Given the description of an element on the screen output the (x, y) to click on. 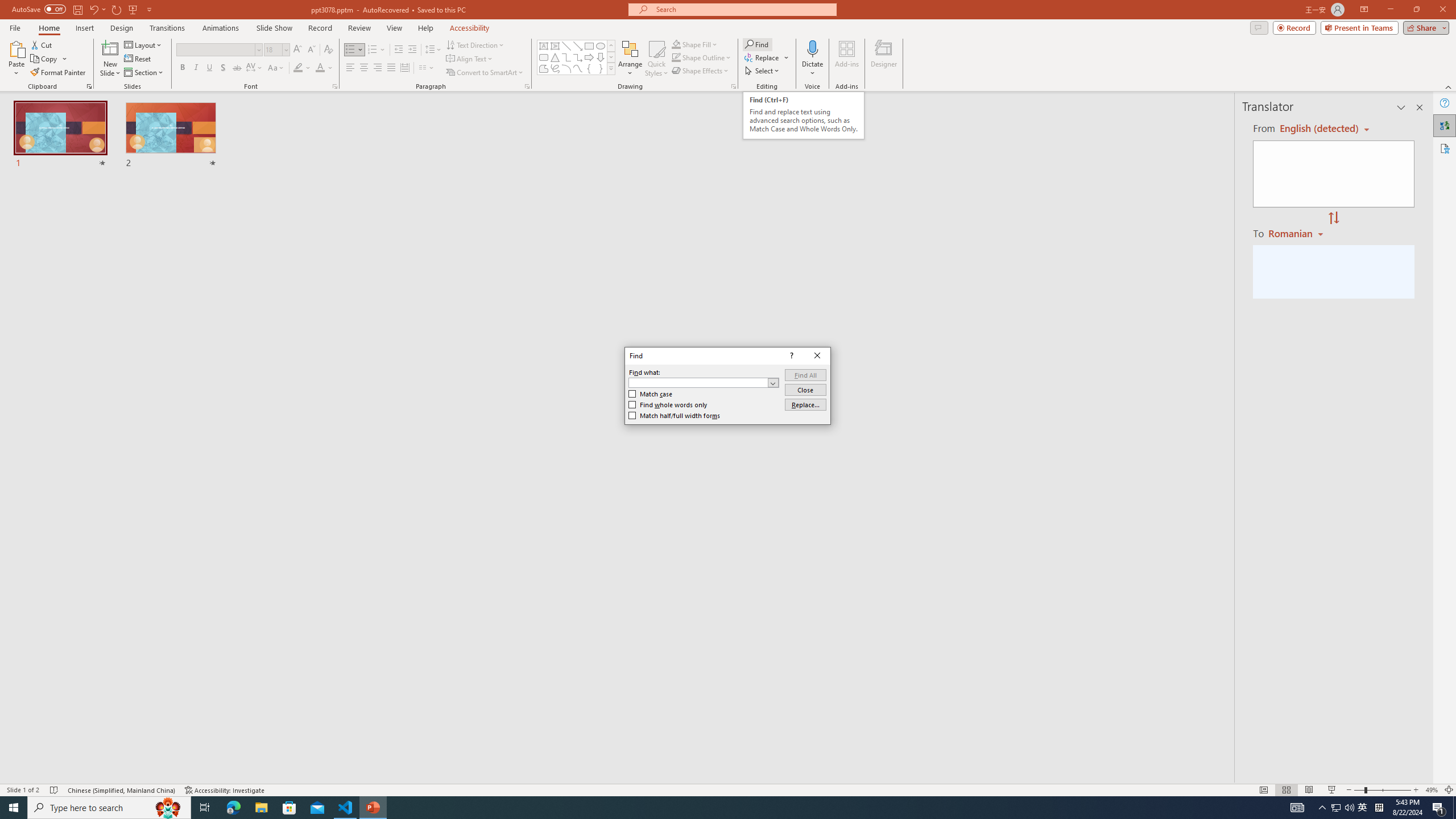
Find what (697, 382)
